Given the description of an element on the screen output the (x, y) to click on. 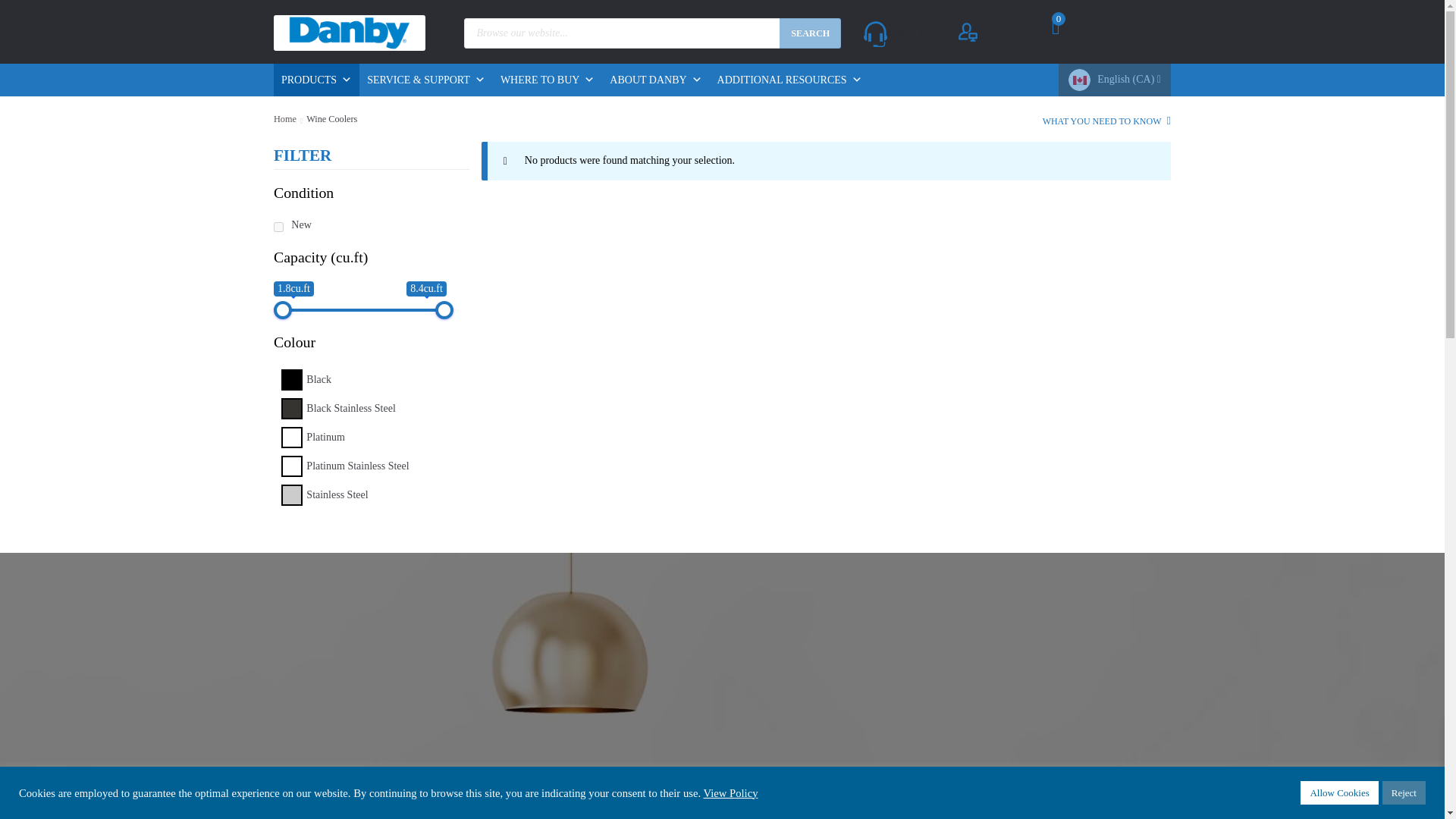
new (278, 226)
Need Help? (904, 33)
PRODUCTS (316, 79)
SEARCH (809, 33)
My Account (998, 31)
